Given the description of an element on the screen output the (x, y) to click on. 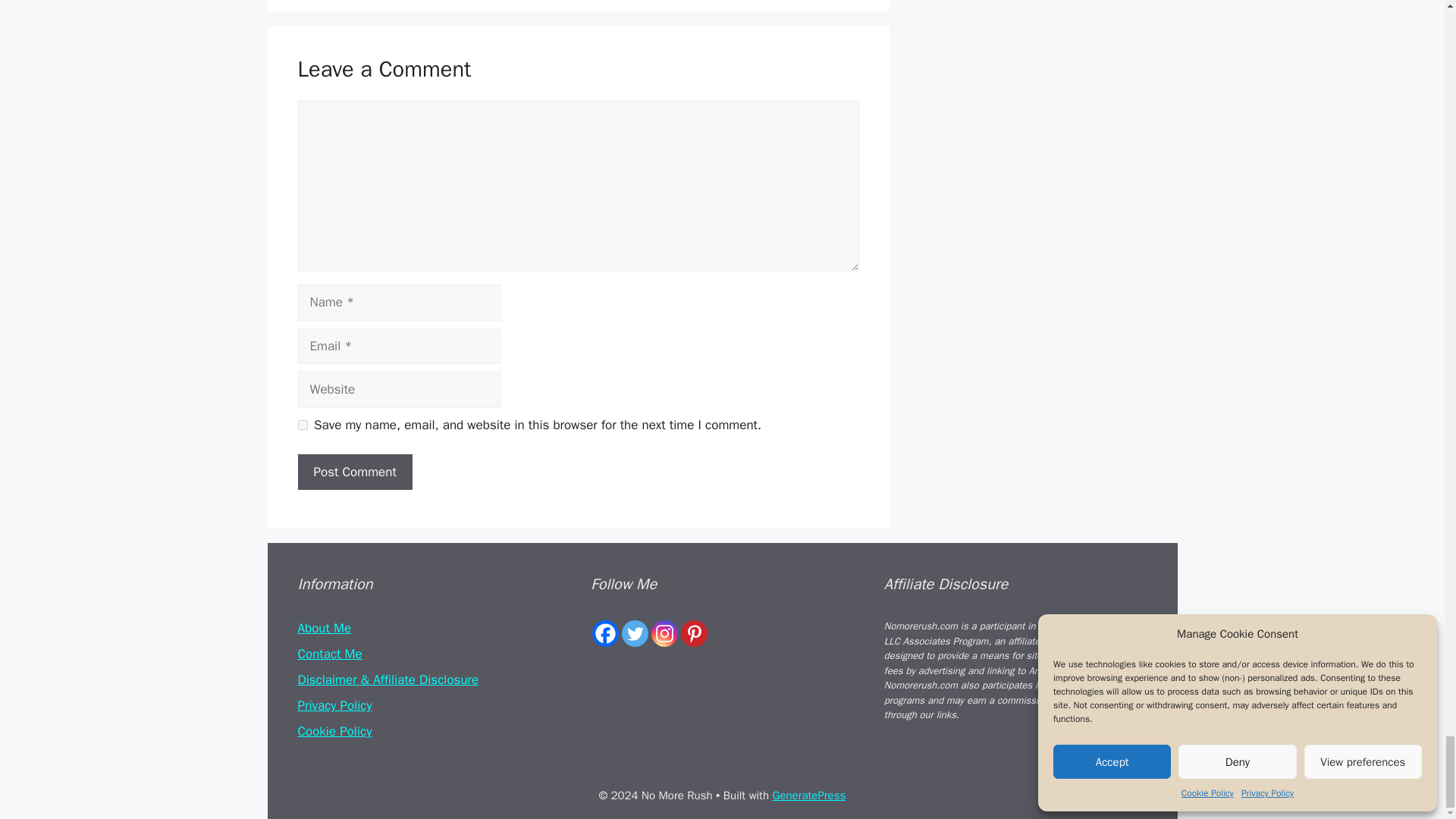
yes (302, 424)
Post Comment (354, 472)
